Given the description of an element on the screen output the (x, y) to click on. 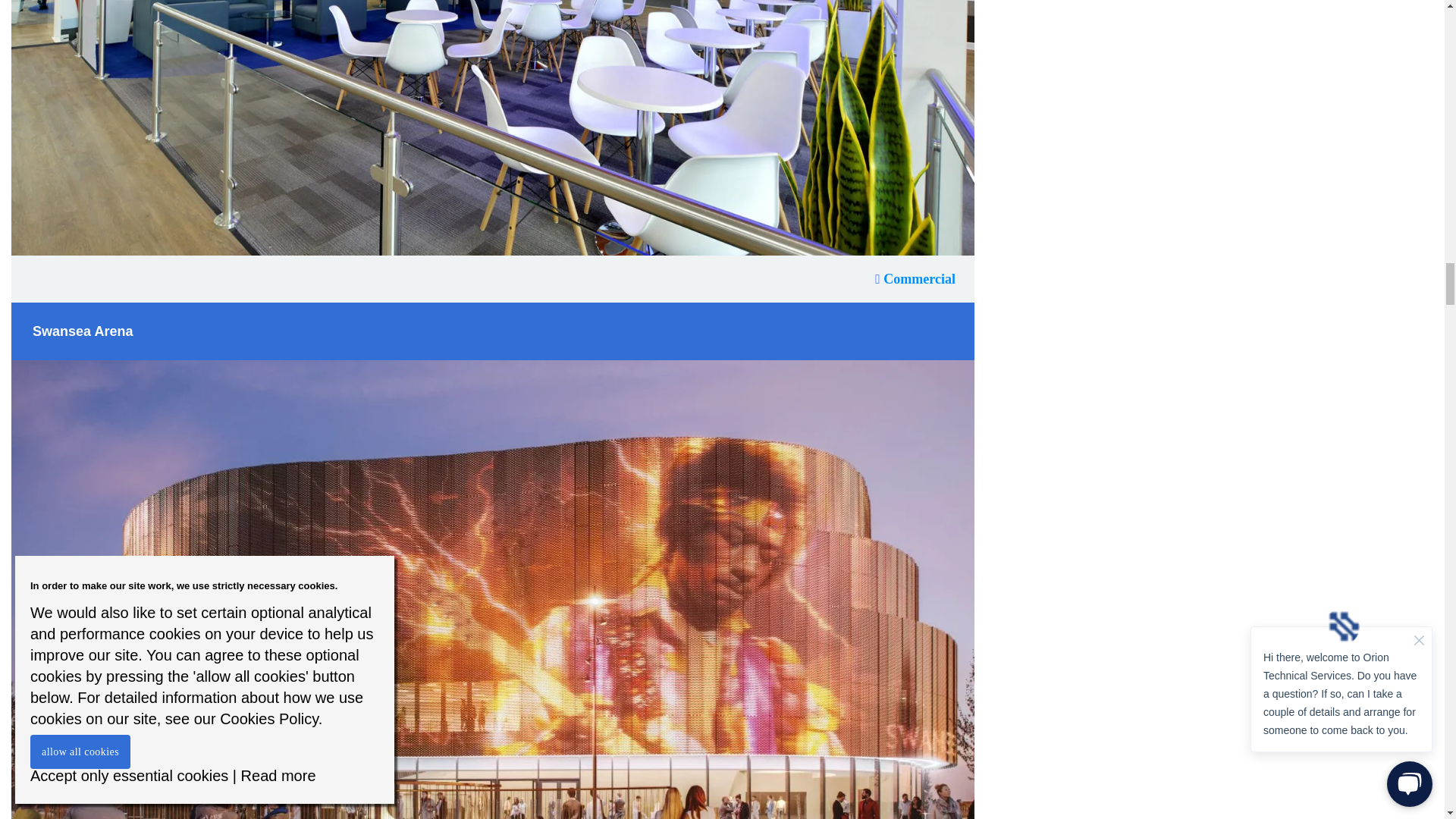
Swansea Arena (82, 331)
Commercial (915, 279)
